Given the description of an element on the screen output the (x, y) to click on. 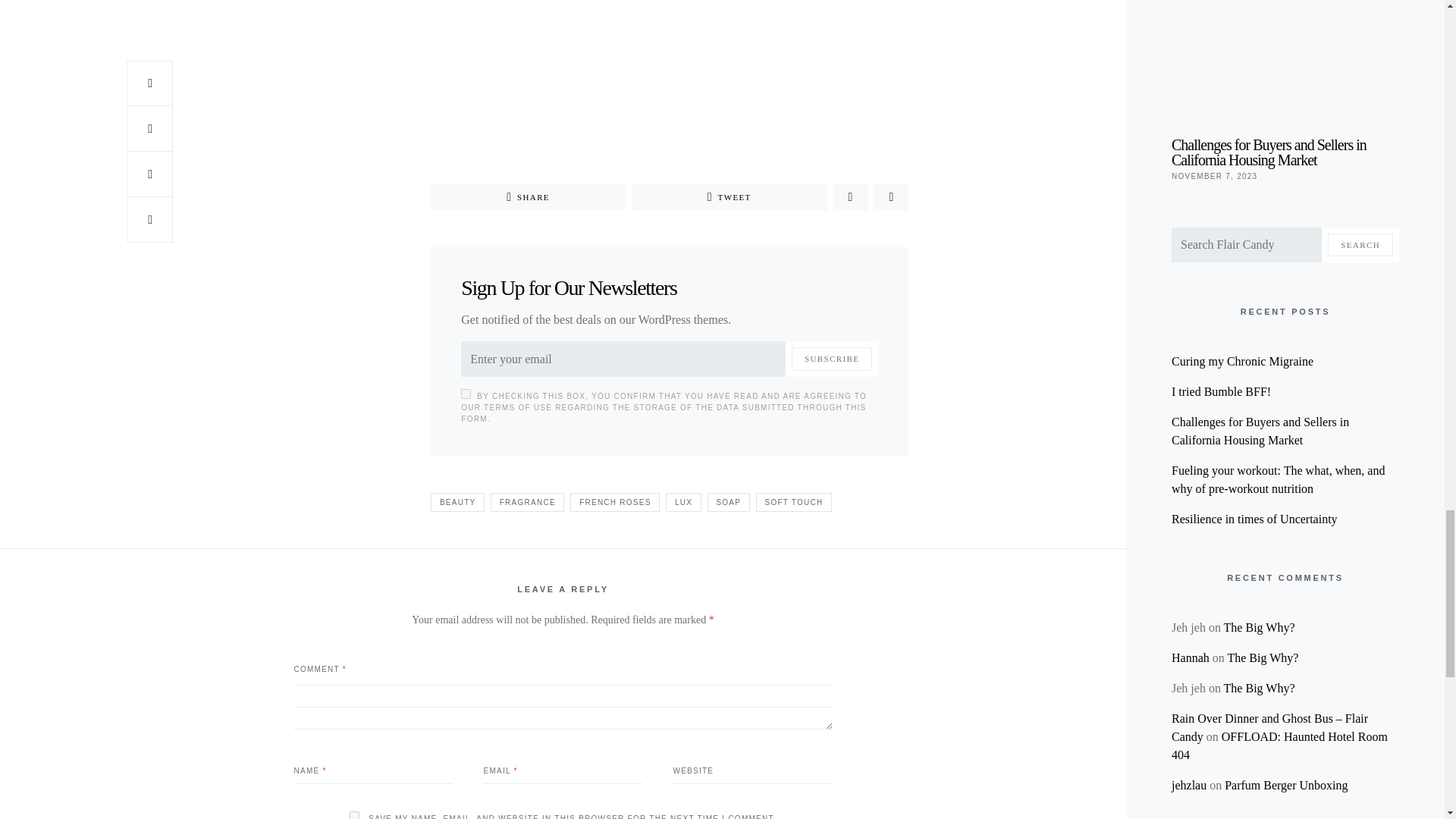
yes (354, 815)
Lux Soft Touch (669, 11)
on (465, 393)
